Given the description of an element on the screen output the (x, y) to click on. 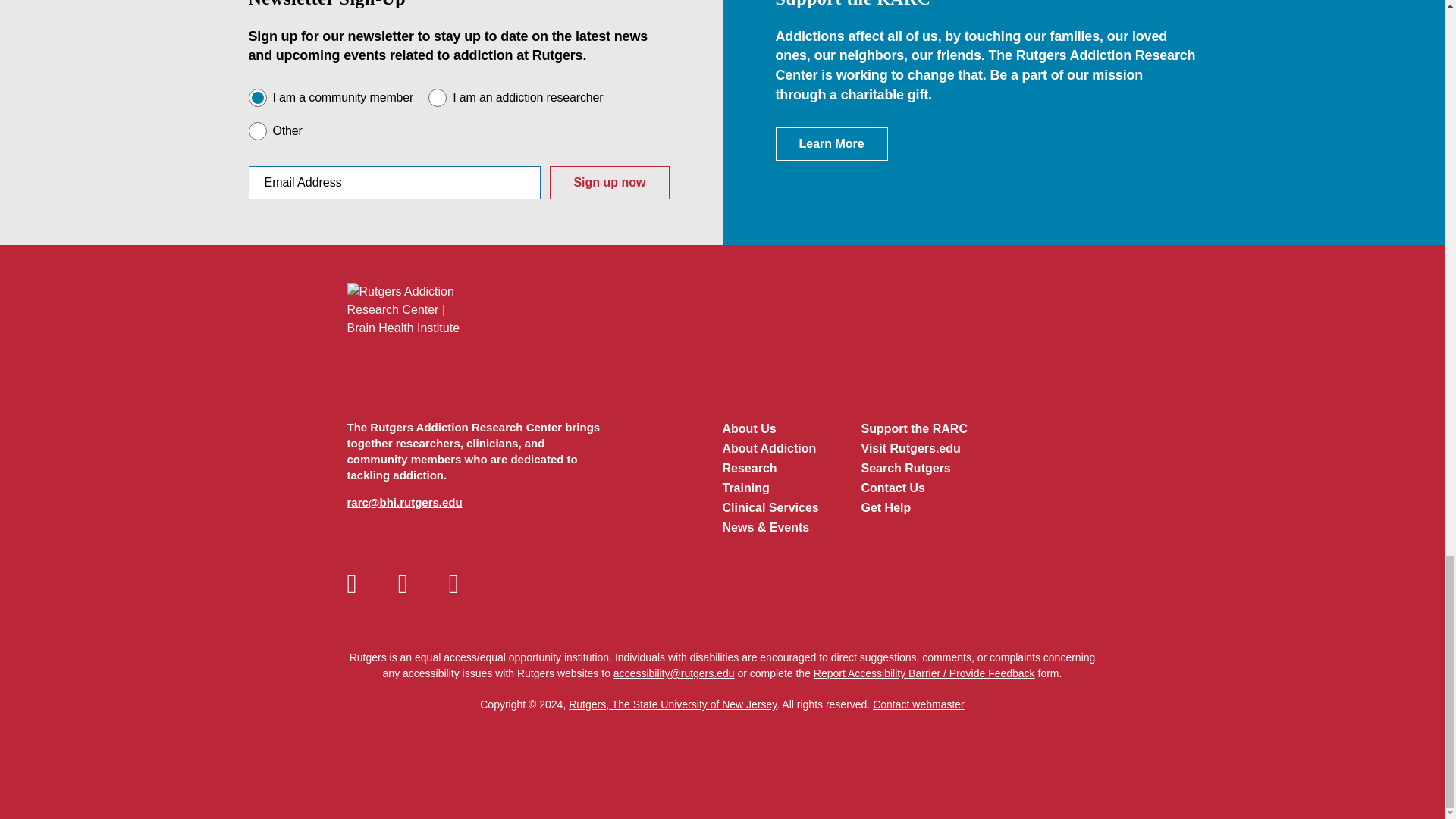
Other (257, 131)
I am an addiction researcher (437, 97)
Sign up now (609, 182)
I am a community member (257, 97)
